Given the description of an element on the screen output the (x, y) to click on. 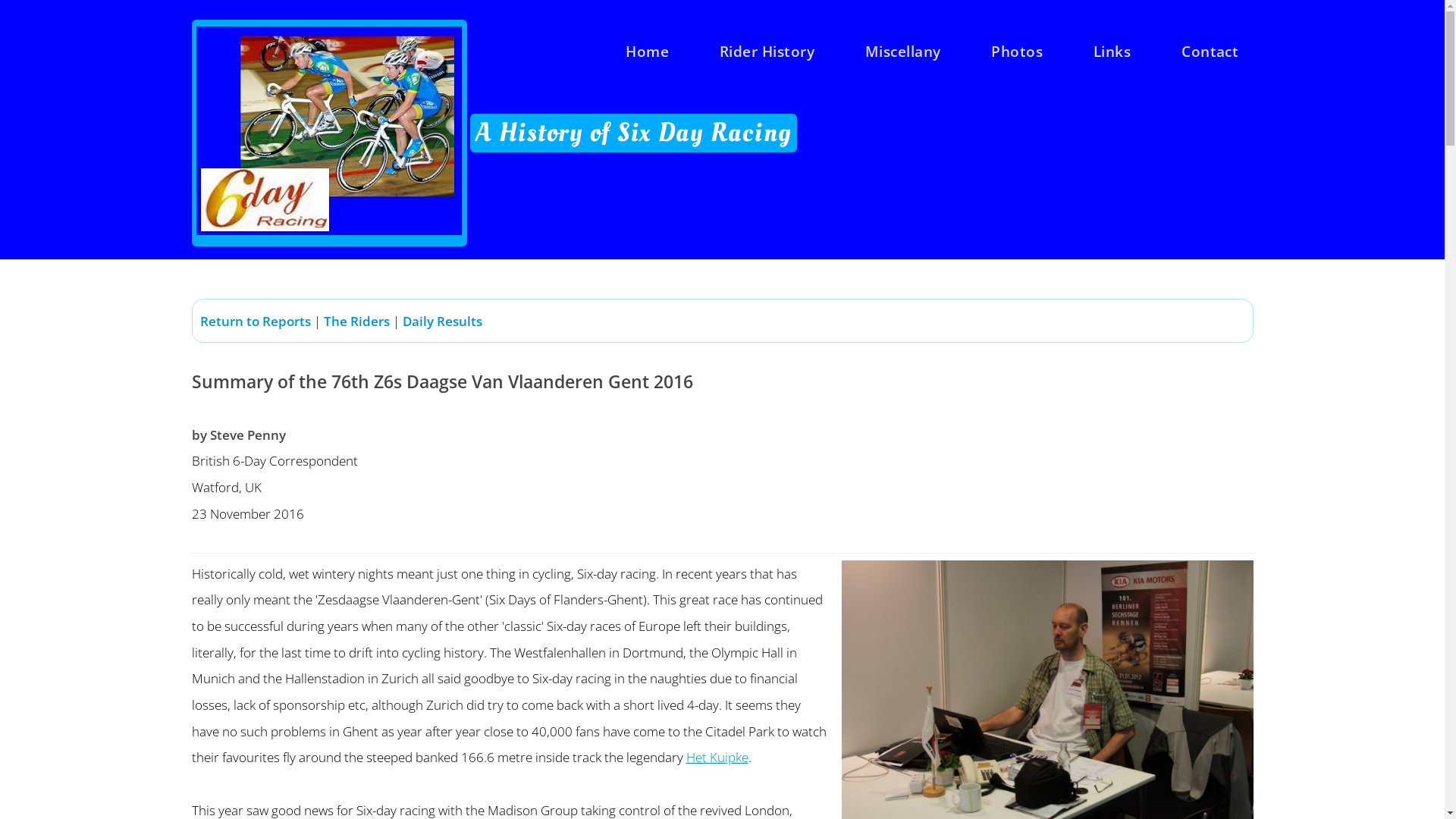
Het Kuipke Element type: text (716, 756)
Links Element type: text (1112, 51)
Daily Results Element type: text (442, 320)
Return to Reports Element type: text (255, 320)
Rider History Element type: text (766, 51)
Miscellany Element type: text (902, 51)
Home Element type: text (647, 51)
The Riders Element type: text (356, 320)
Contact Element type: text (1209, 51)
Photos Element type: text (1016, 51)
